Given the description of an element on the screen output the (x, y) to click on. 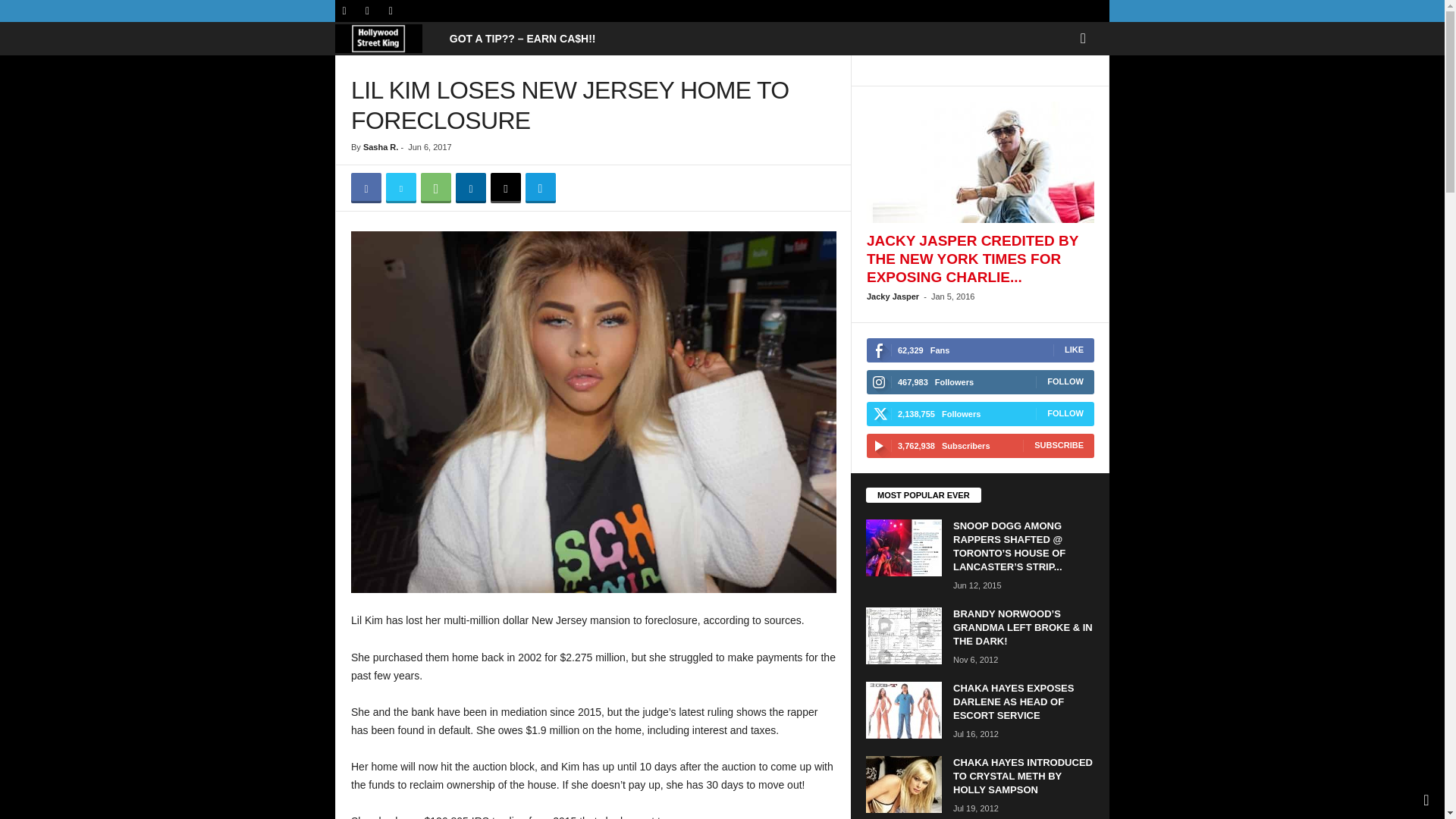
Youtube (389, 11)
Twitter (367, 11)
Email (505, 187)
Sasha R. (379, 146)
Linkedin (470, 187)
CONTACT HSK (522, 38)
Facebook (343, 11)
Twitter (400, 187)
Facebook (365, 187)
WhatsApp (435, 187)
